Given the description of an element on the screen output the (x, y) to click on. 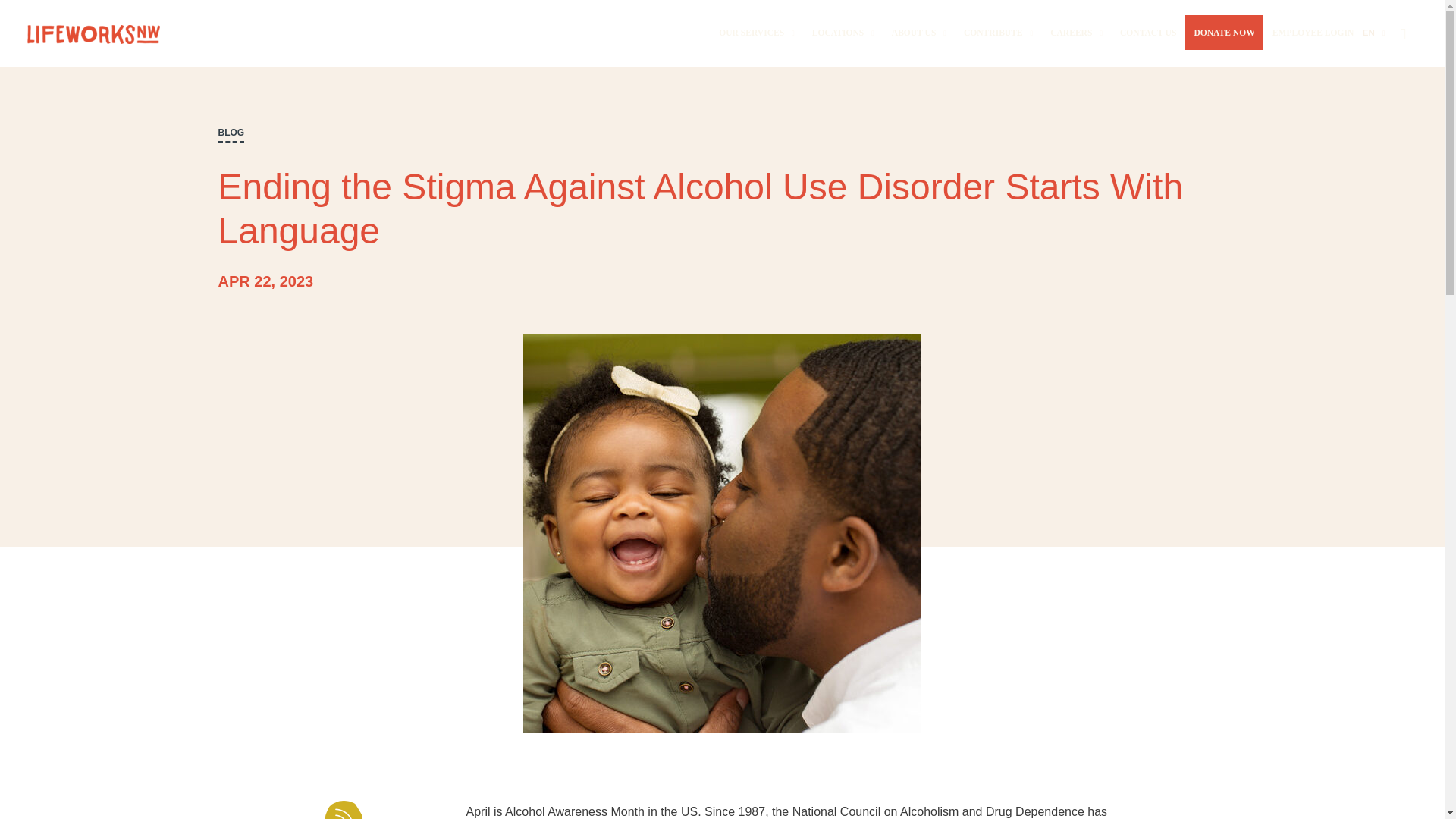
LOCATIONS (842, 32)
English (1374, 31)
ABOUT US (918, 32)
CONTRIBUTE (998, 32)
OUR SERVICES (756, 32)
